Given the description of an element on the screen output the (x, y) to click on. 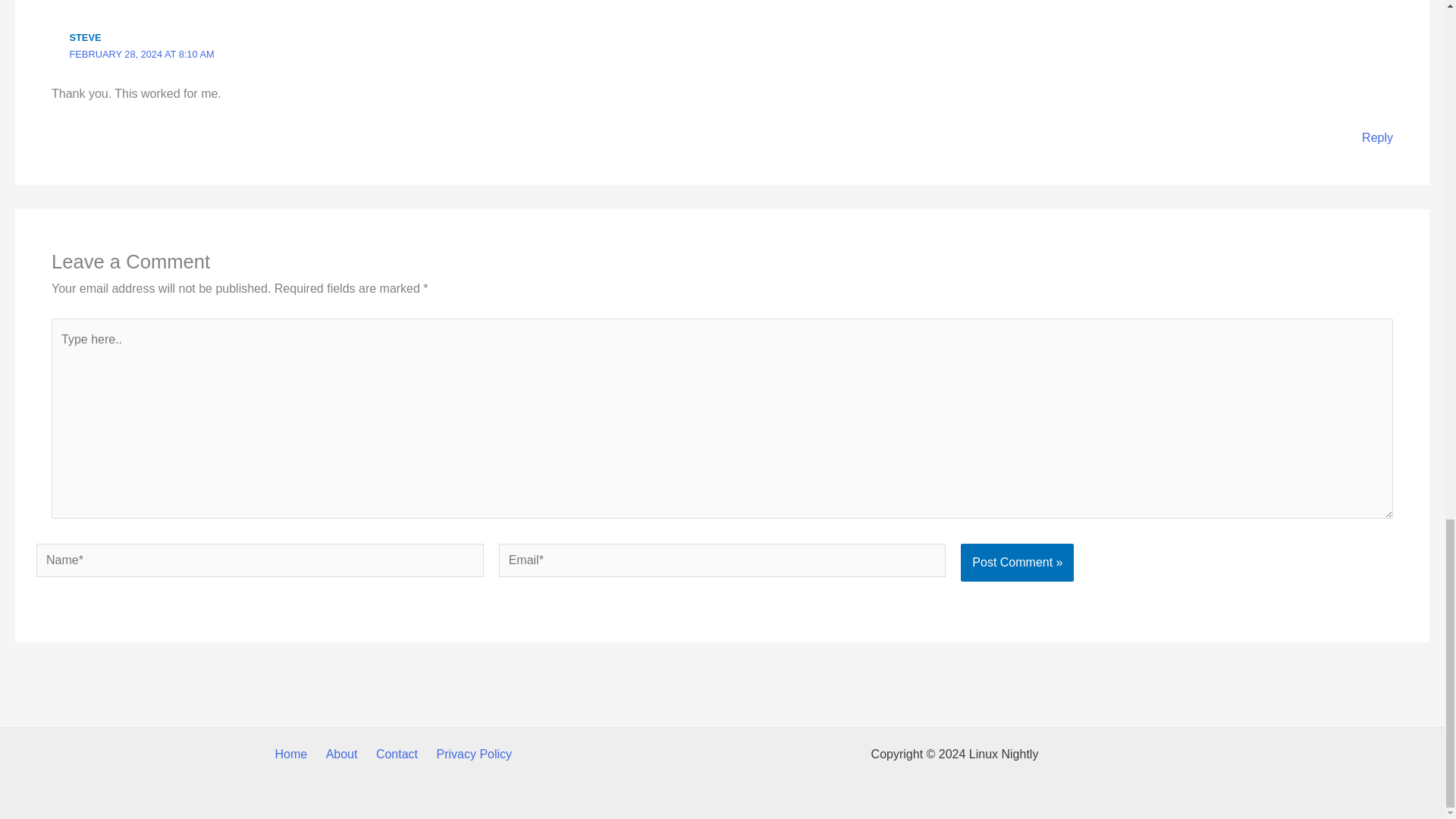
About (342, 753)
Reply (1377, 137)
Contact (396, 753)
Privacy Policy (474, 753)
Home (291, 753)
FEBRUARY 28, 2024 AT 8:10 AM (141, 53)
